Given the description of an element on the screen output the (x, y) to click on. 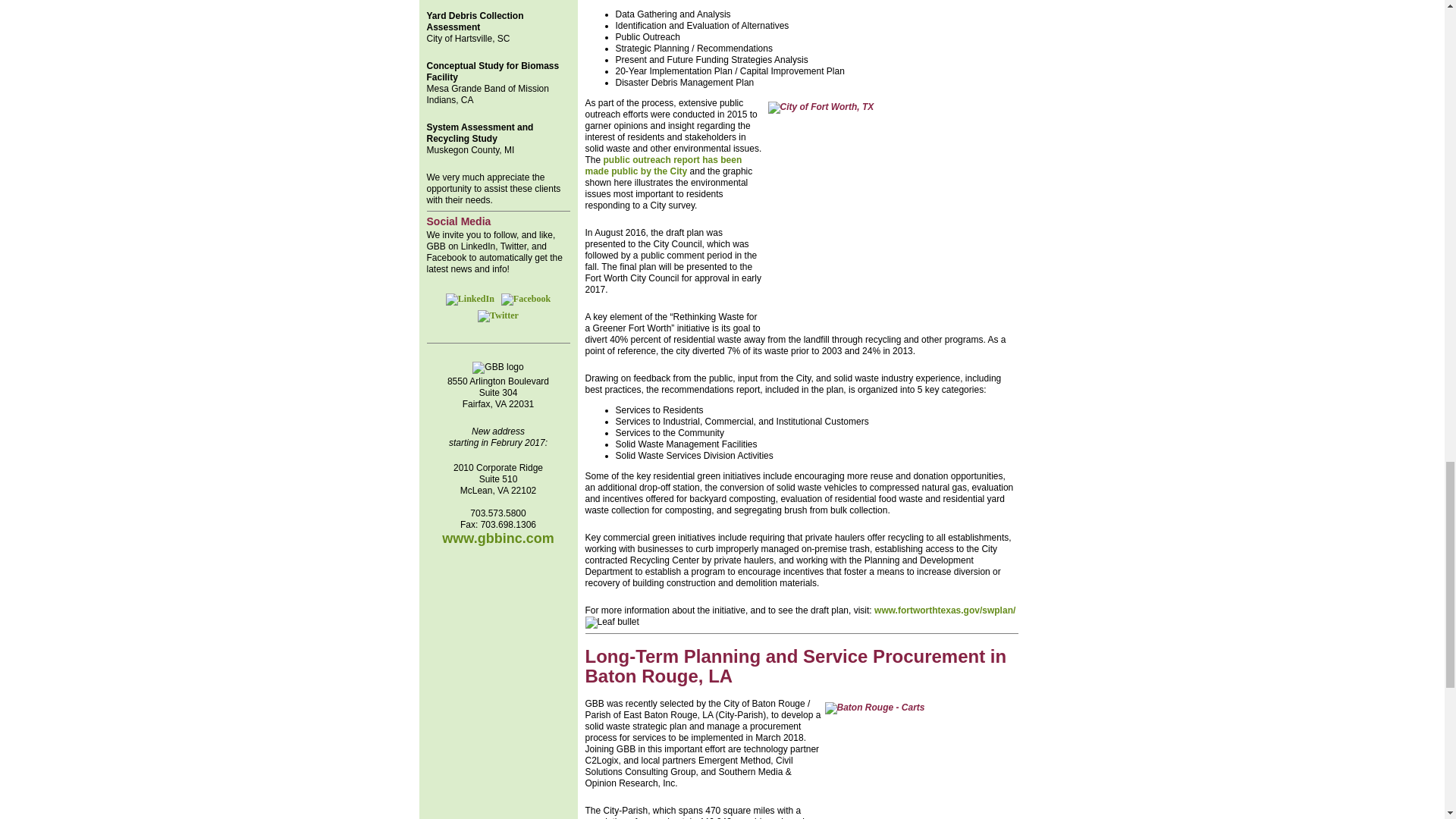
public outreach report has been made public by the City (663, 165)
www.gbbinc.com (497, 538)
